Given the description of an element on the screen output the (x, y) to click on. 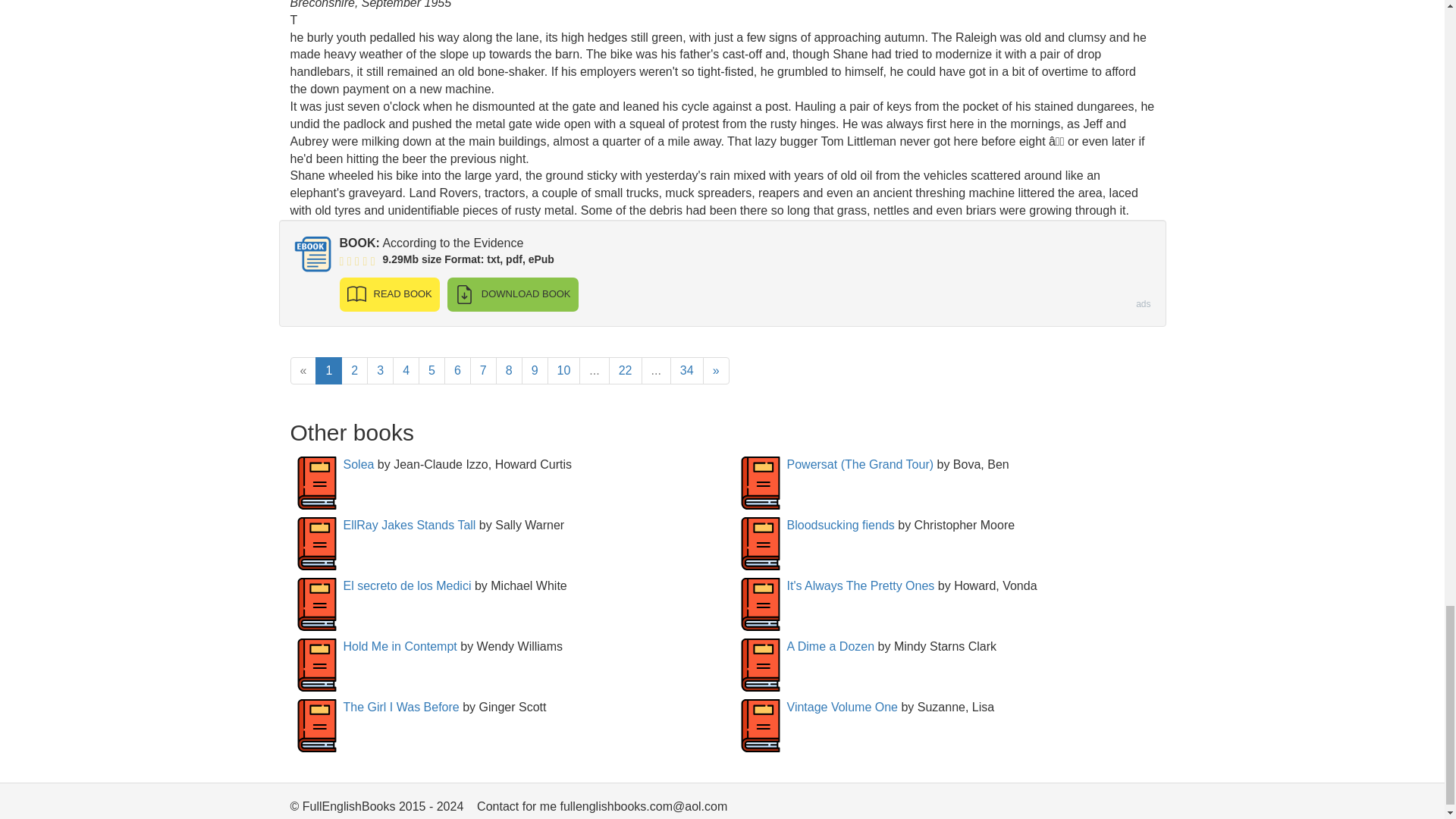
5 (432, 370)
8 (509, 370)
6 (457, 370)
34 (686, 370)
DOWNLOAD BOOK (512, 294)
EllRay Jakes Stands Tall (409, 524)
Solea (358, 463)
4 (406, 370)
READ BOOK (389, 294)
1 (328, 370)
10 (563, 370)
22 (625, 370)
7 (483, 370)
LiveInternet (1142, 808)
2 (354, 370)
